Given the description of an element on the screen output the (x, y) to click on. 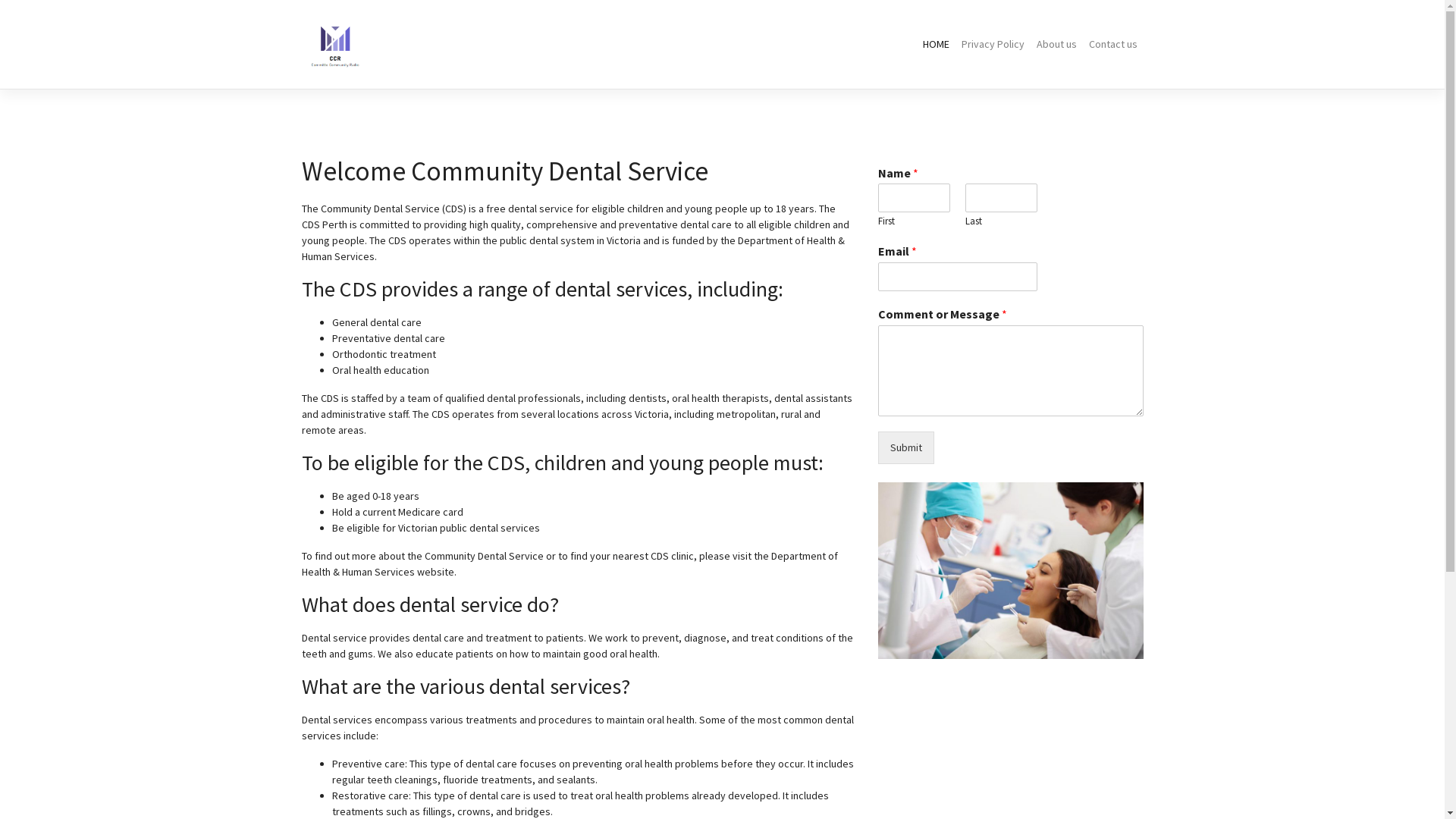
Contact us Element type: text (1112, 44)
Privacy Policy Element type: text (992, 44)
HOME Element type: text (935, 44)
Submit Element type: text (906, 447)
About us Element type: text (1055, 44)
